Given the description of an element on the screen output the (x, y) to click on. 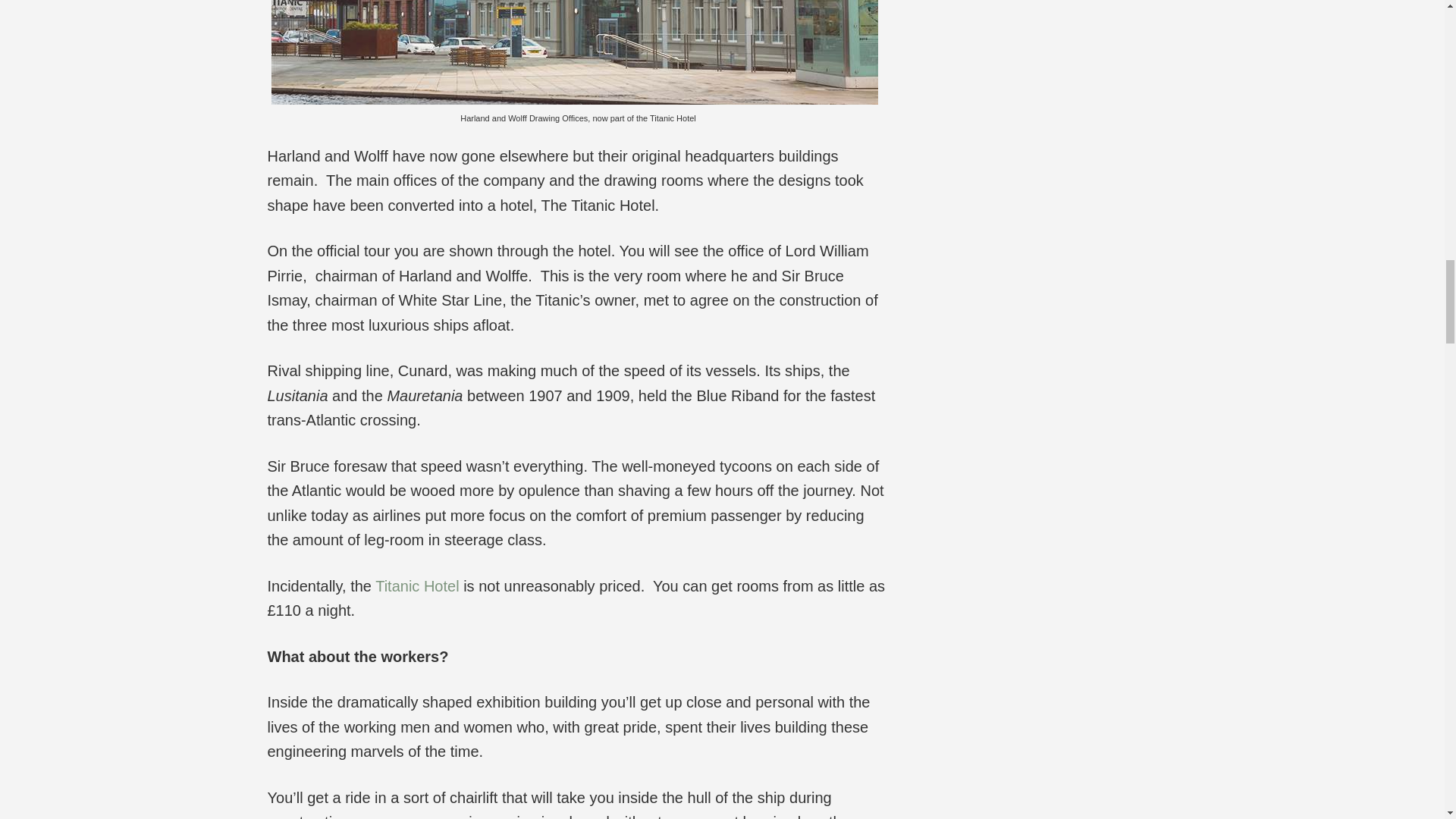
Titanic Hotel (416, 586)
